Given the description of an element on the screen output the (x, y) to click on. 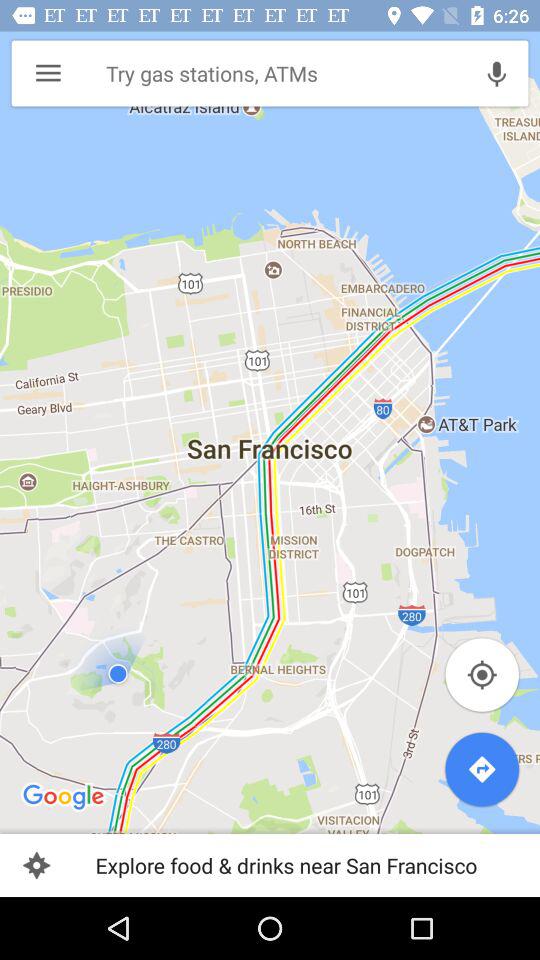
select the text google (64, 798)
click on pin location button which is below att park (481, 674)
click on try gas stations atms in the white colored box at the top (280, 73)
click the voice icon right top corner of the page below 626 (496, 73)
click the blue direction icon on the right corner bottom of the page (481, 769)
click on direction button which is at bottom right corner of the page (481, 769)
